Given the description of an element on the screen output the (x, y) to click on. 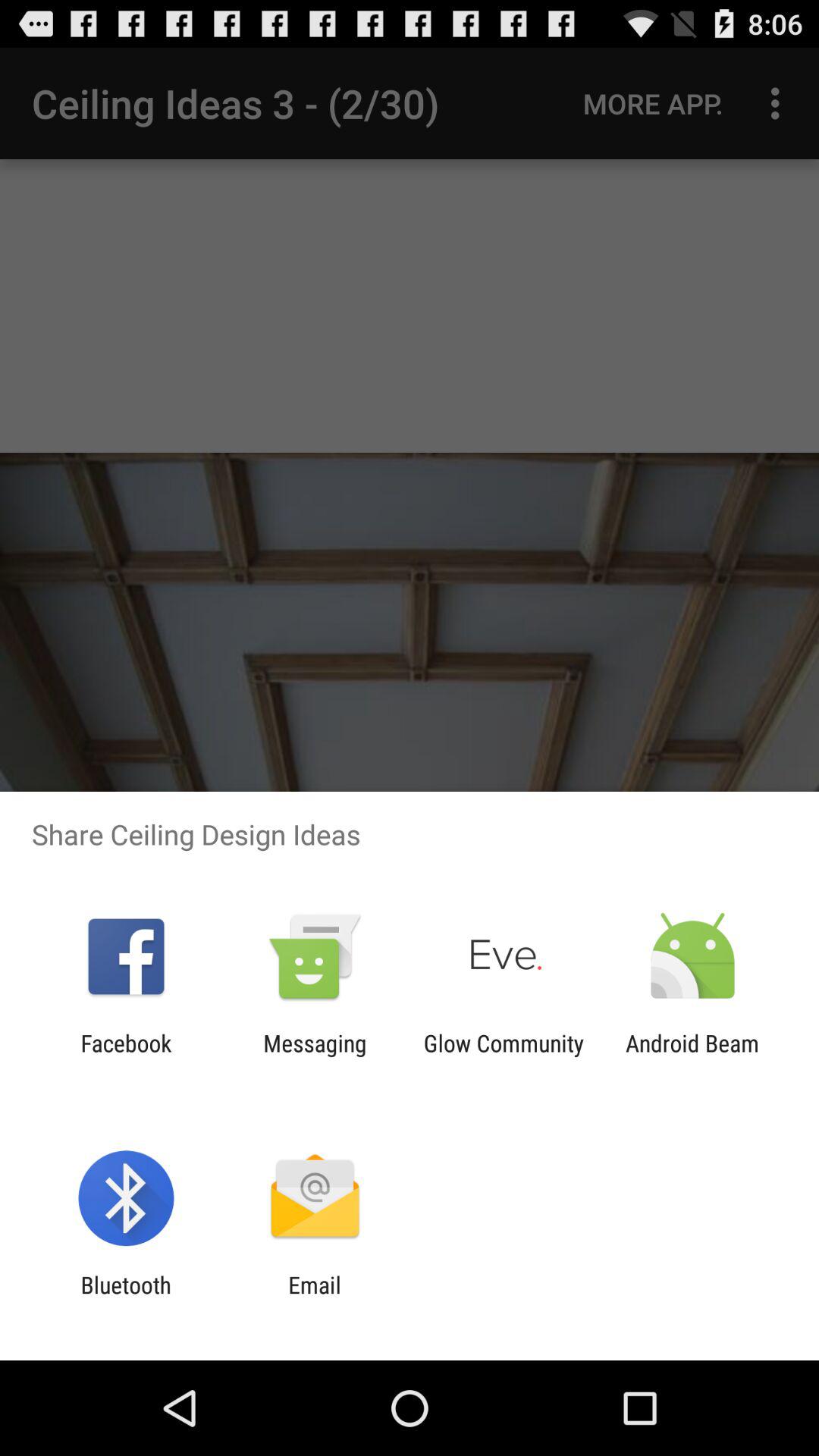
press the bluetooth icon (125, 1298)
